Given the description of an element on the screen output the (x, y) to click on. 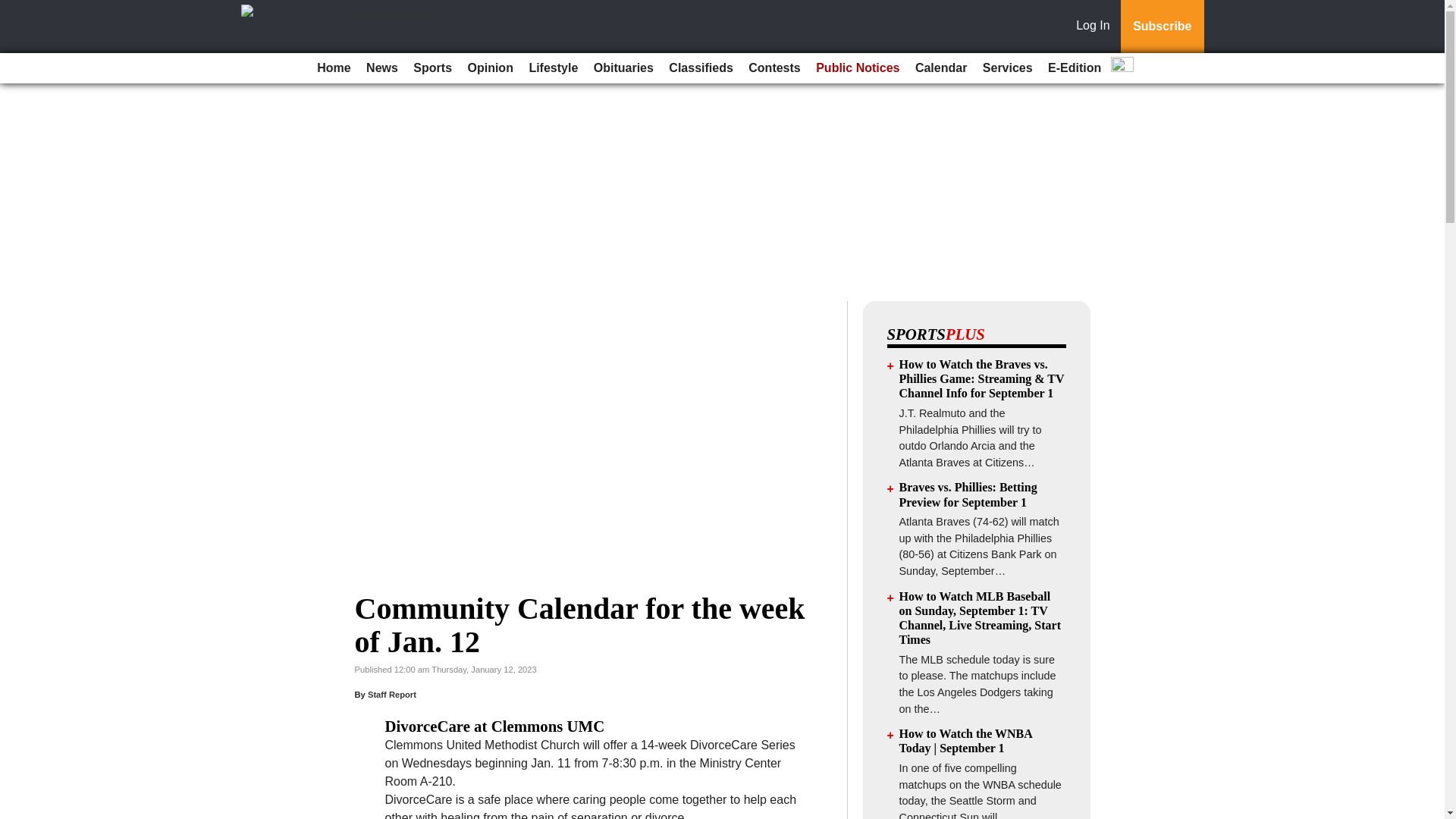
Classifieds (700, 68)
Subscribe (1162, 26)
Home (333, 68)
Obituaries (623, 68)
Sports (432, 68)
Services (1007, 68)
Lifestyle (552, 68)
Log In (1095, 26)
News (381, 68)
